Given the description of an element on the screen output the (x, y) to click on. 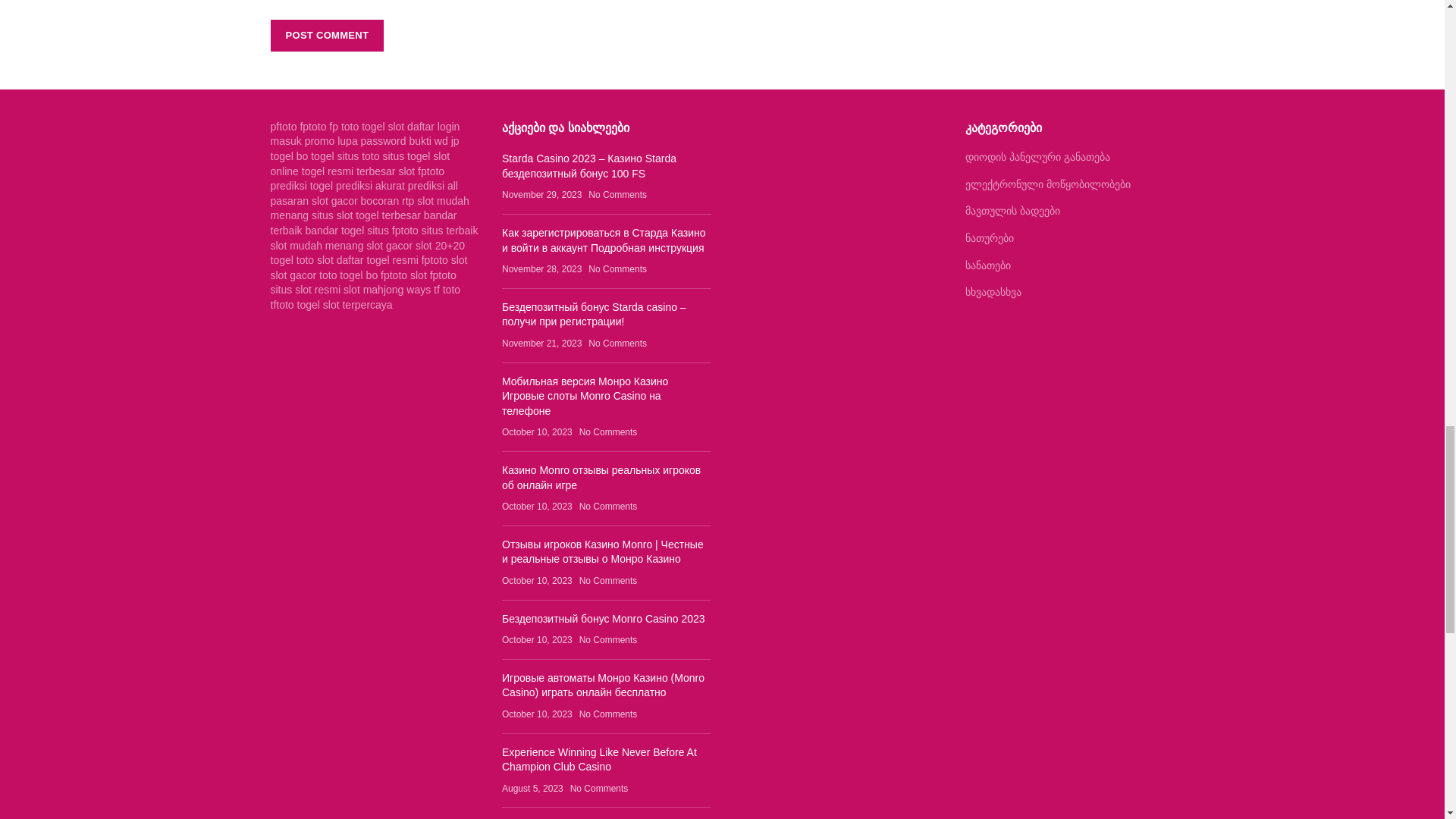
Post Comment (326, 35)
